Given the description of an element on the screen output the (x, y) to click on. 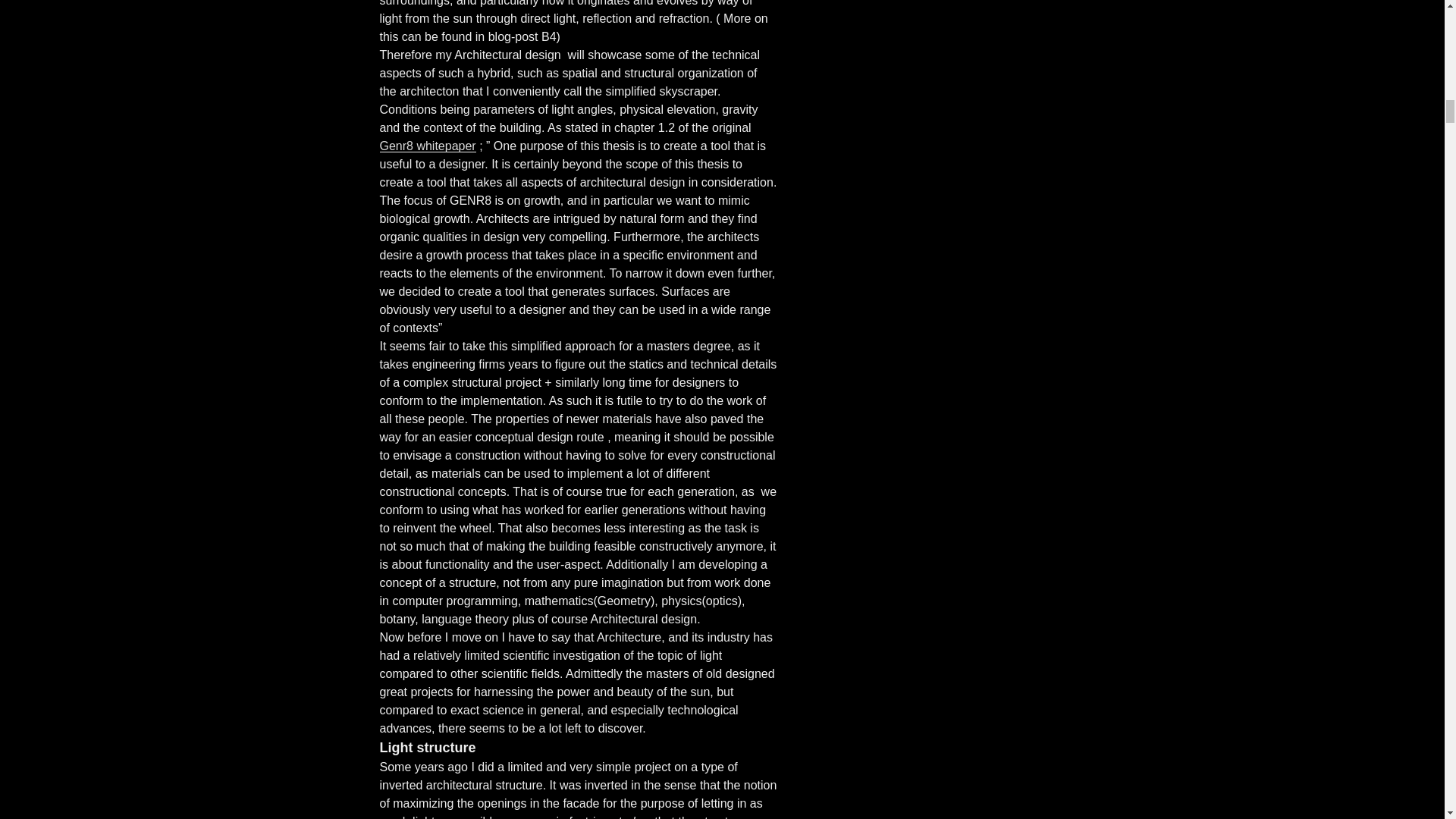
Genr8 whitepaper (427, 145)
